Given the description of an element on the screen output the (x, y) to click on. 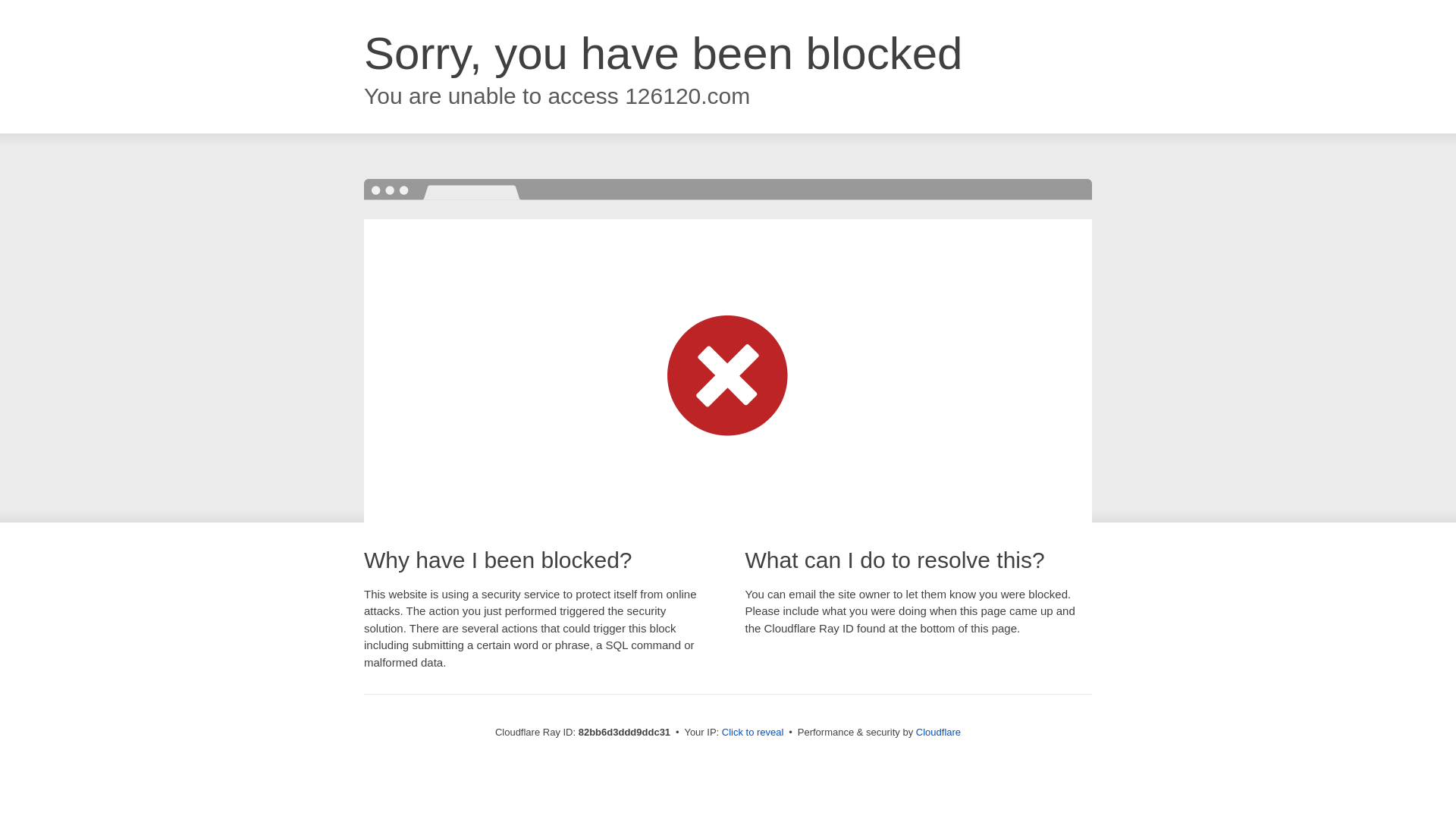
Click to reveal Element type: text (752, 732)
Cloudflare Element type: text (938, 731)
